Given the description of an element on the screen output the (x, y) to click on. 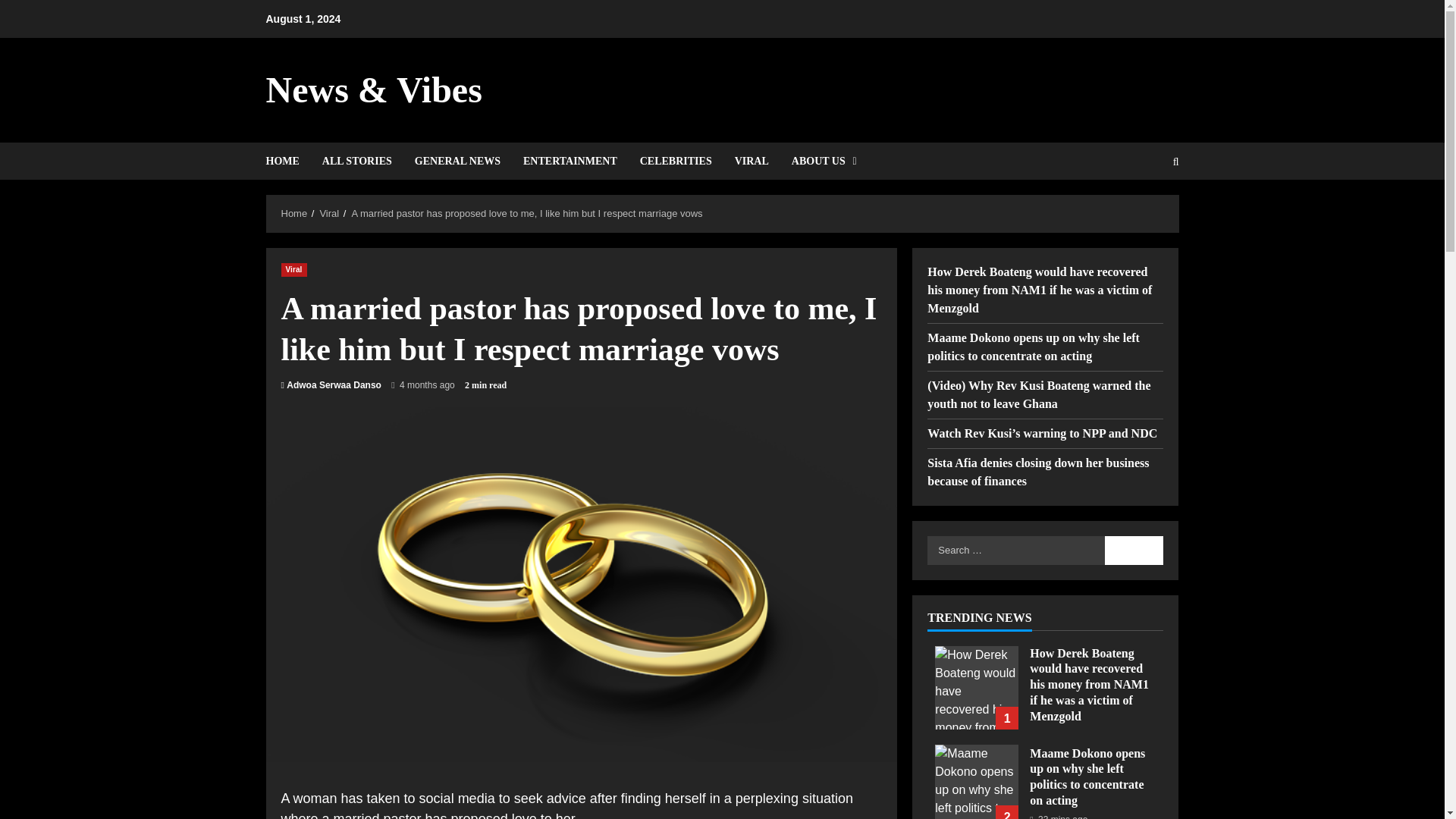
CELEBRITIES (675, 160)
GENERAL NEWS (457, 160)
ENTERTAINMENT (570, 160)
Home (294, 213)
Search (1134, 549)
Search (1139, 213)
Viral (293, 269)
